Given the description of an element on the screen output the (x, y) to click on. 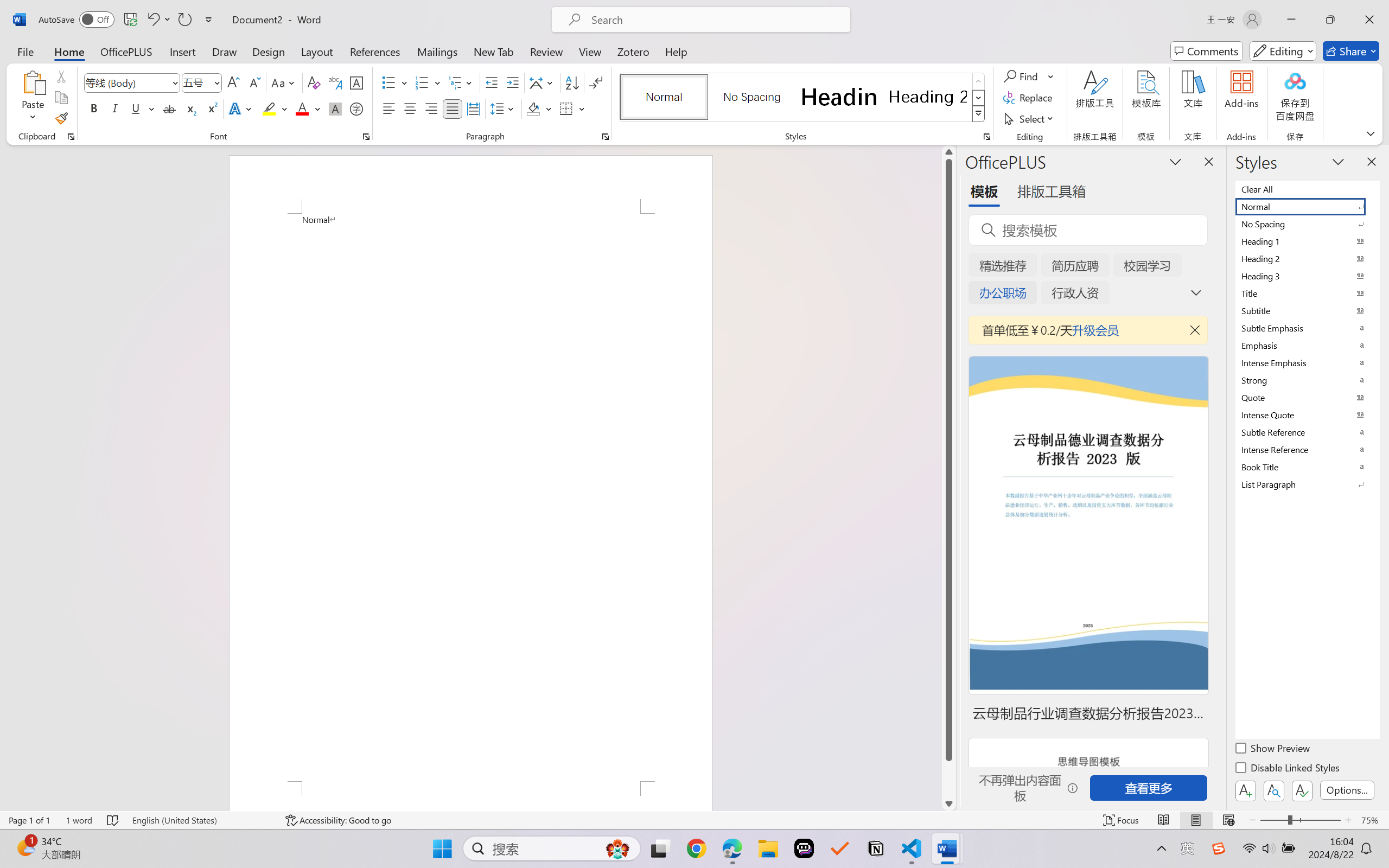
Font Size (201, 82)
Clear All (1306, 188)
Align Right (431, 108)
Design (268, 51)
Accessibility Checker Accessibility: Good to go (338, 819)
Class: Image (1218, 847)
Shrink Font (253, 82)
Quick Access Toolbar (127, 19)
Character Border (356, 82)
Word Count 1 word (78, 819)
References (375, 51)
Show Preview (1273, 749)
